Given the description of an element on the screen output the (x, y) to click on. 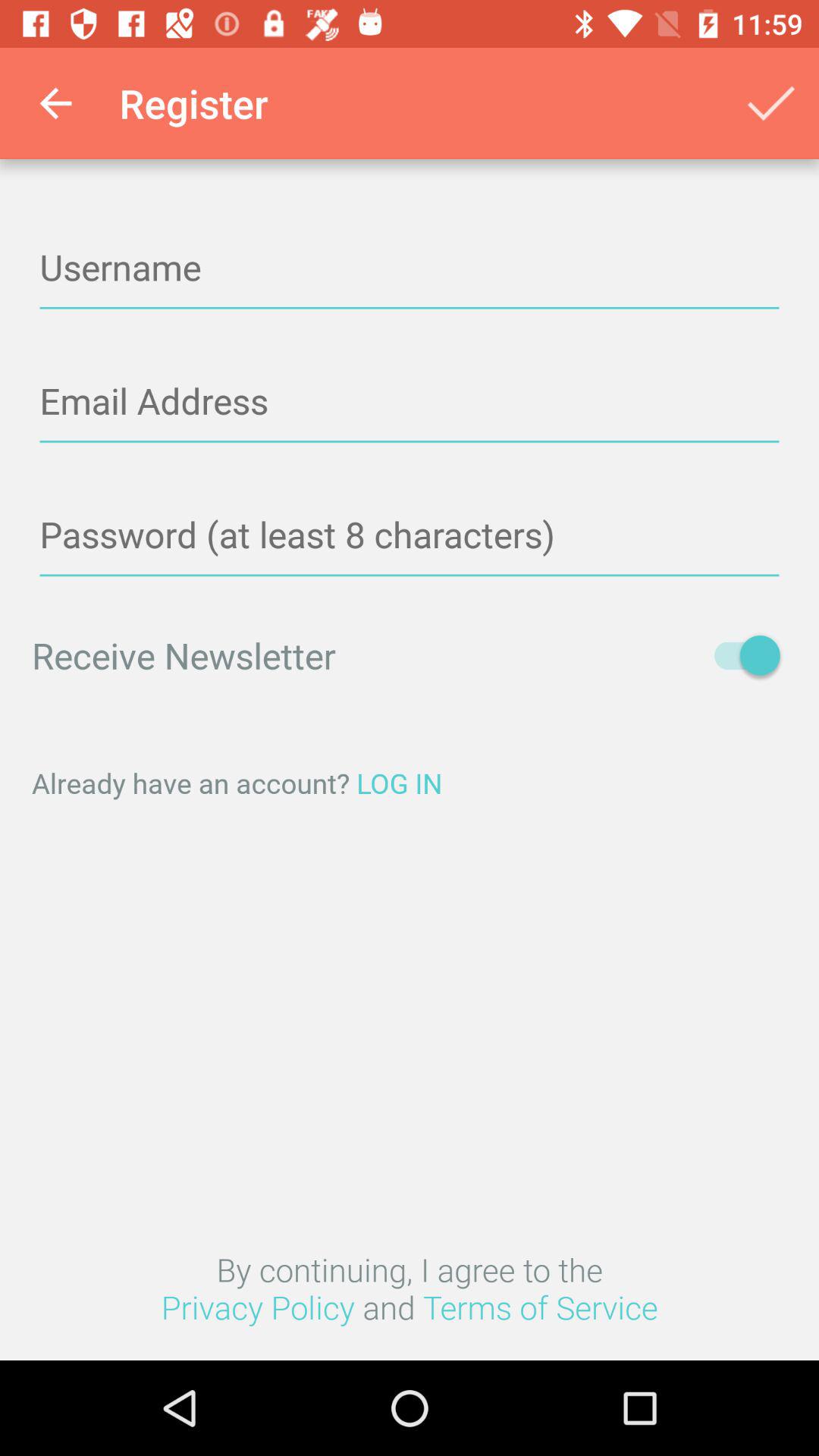
enter username (409, 268)
